Given the description of an element on the screen output the (x, y) to click on. 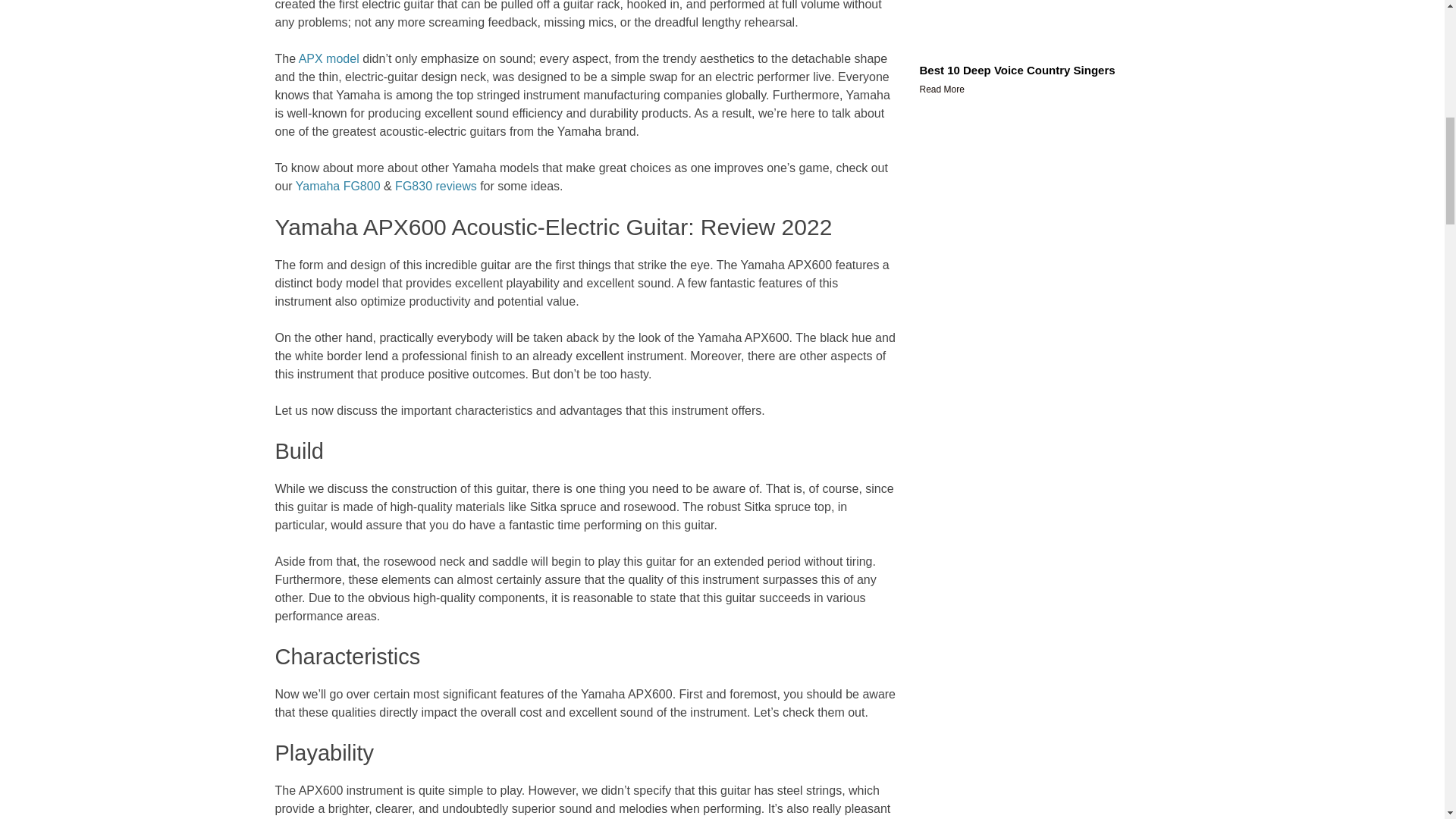
APX model (328, 58)
Yamaha FG800 (337, 185)
FG830 reviews (435, 185)
